Given the description of an element on the screen output the (x, y) to click on. 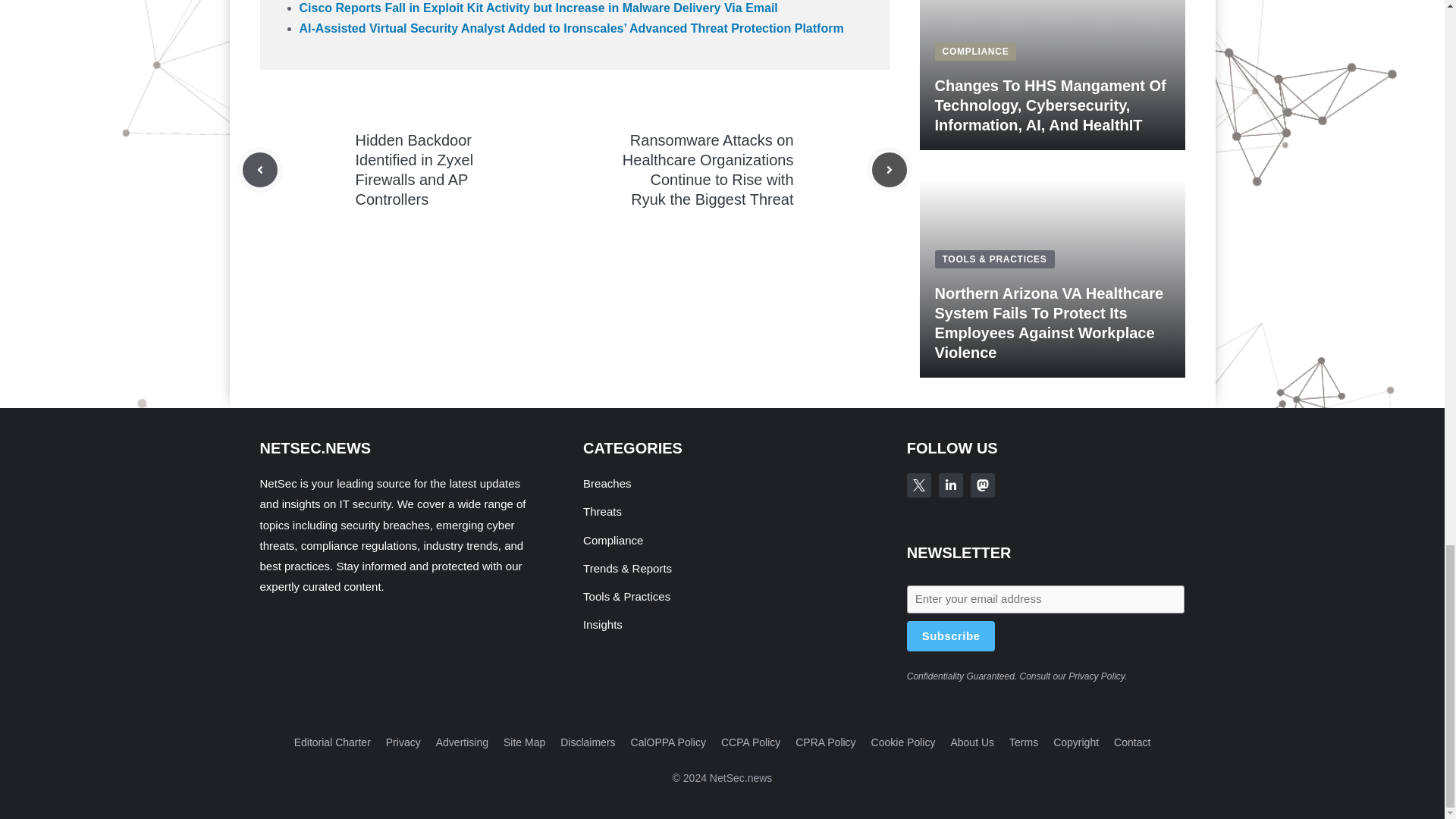
Subscribe (951, 635)
Breaches (606, 482)
COMPLIANCE (975, 50)
